Given the description of an element on the screen output the (x, y) to click on. 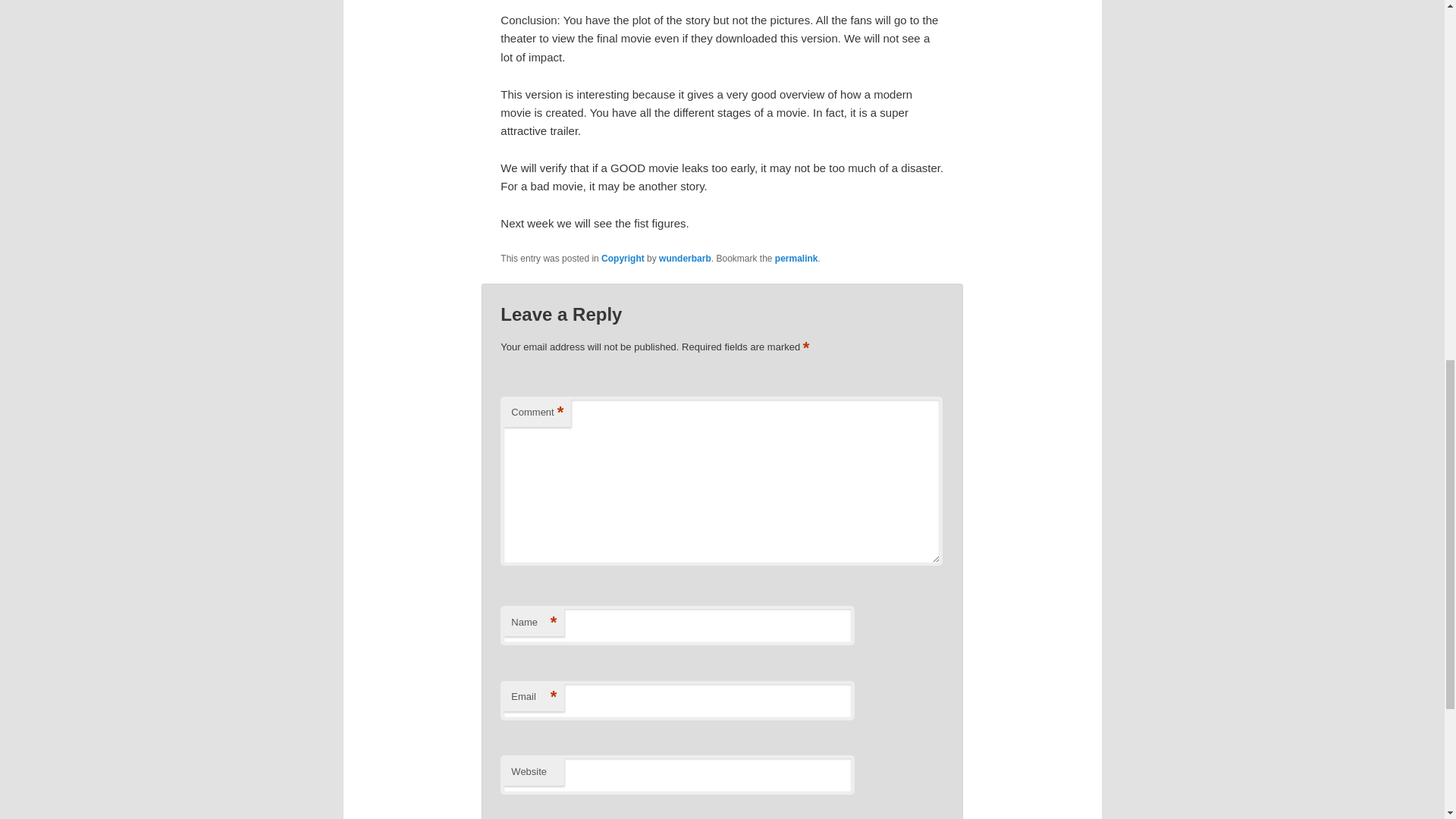
permalink (796, 258)
Copyright (623, 258)
Permalink to Is wolverine leakage a real tragedy? (796, 258)
wunderbarb (685, 258)
